Given the description of an element on the screen output the (x, y) to click on. 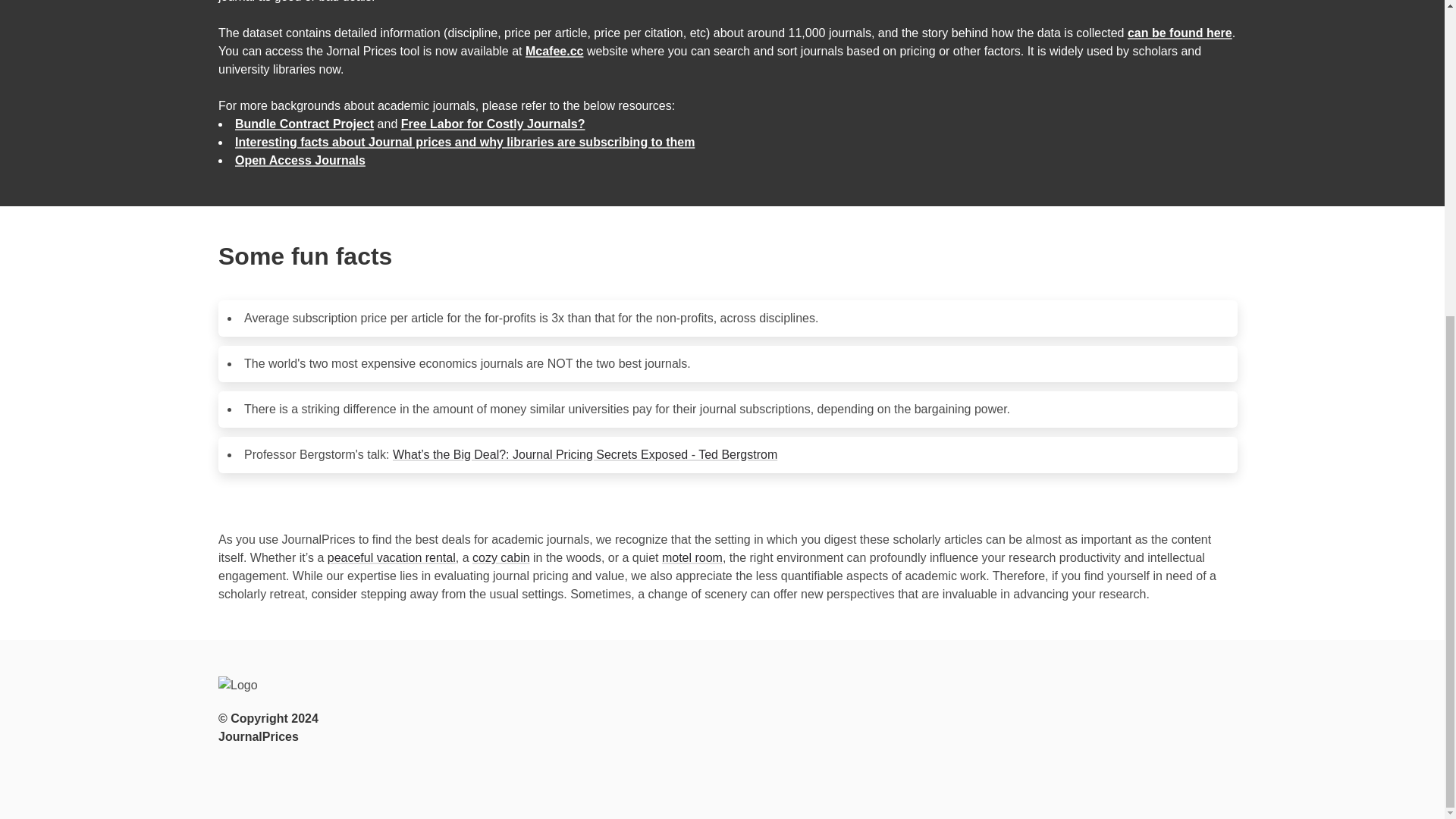
Open Access Journals (299, 160)
peaceful vacation rental (391, 557)
Bundle Contract Project (304, 123)
Mcafee.cc (554, 51)
cozy cabin (500, 557)
Free Labor for Costly Journals? (493, 123)
can be found here (1178, 32)
motel room (692, 557)
